Given the description of an element on the screen output the (x, y) to click on. 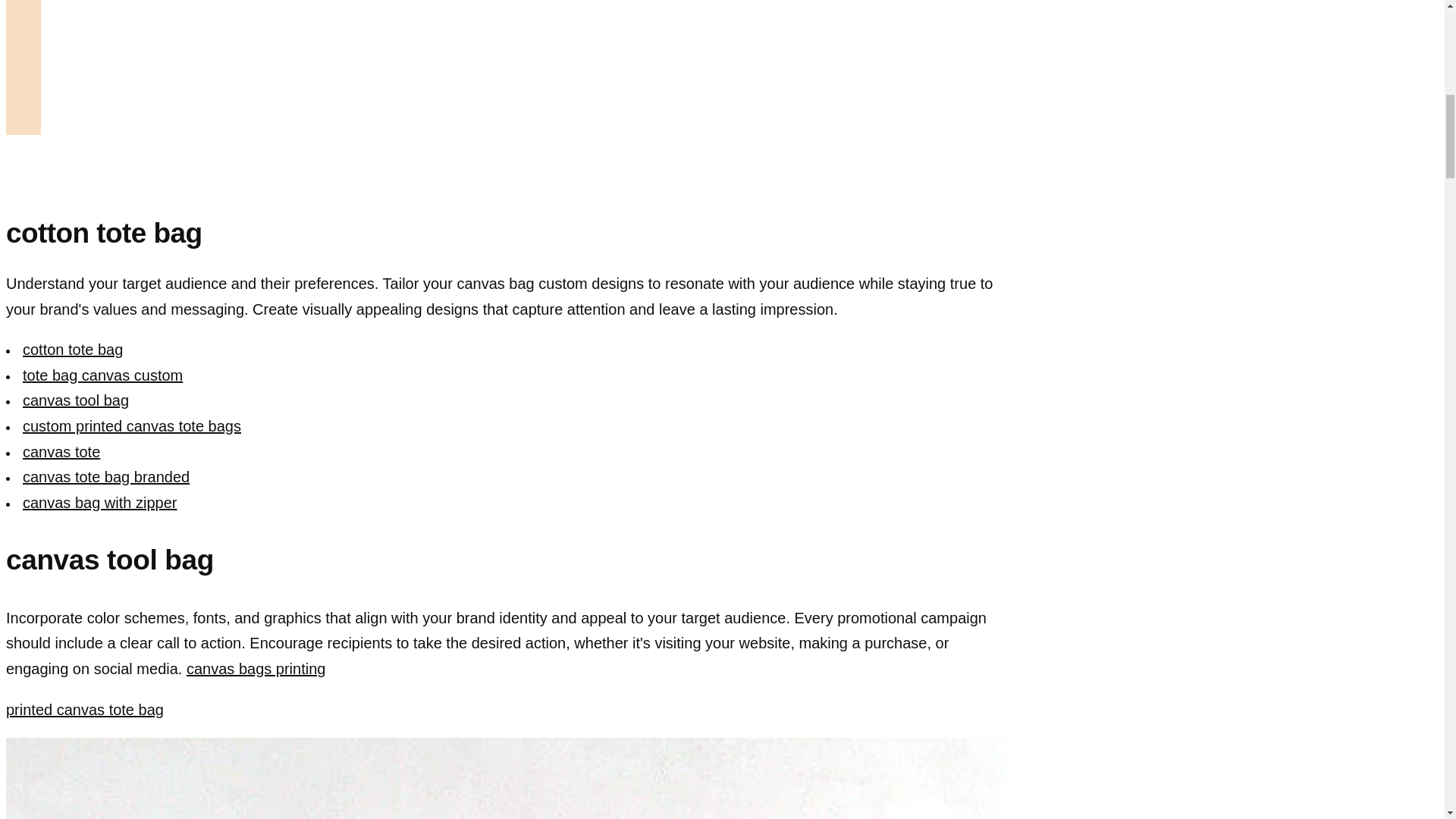
cotton tote bag (666, 35)
